Given the description of an element on the screen output the (x, y) to click on. 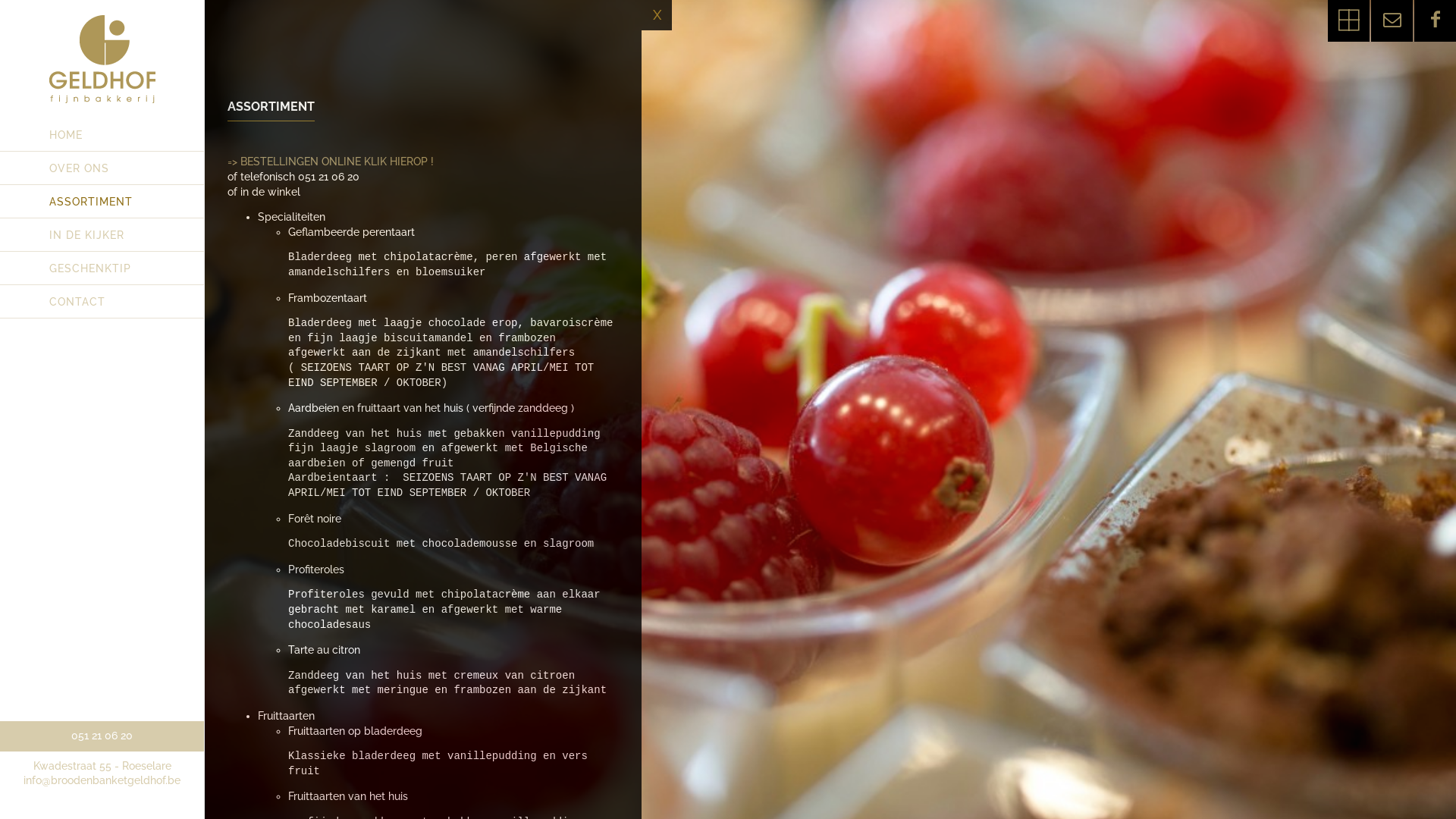
HOME Element type: text (101, 134)
=> BESTELLINGEN ONLINE KLIK HIEROP !  Element type: text (331, 161)
IN DE KIJKER Element type: text (101, 234)
X Element type: text (656, 15)
Bakkerij Gelfhof Element type: text (105, 71)
OVER ONS Element type: text (101, 168)
ASSORTIMENT Element type: text (101, 201)
CONTACT Element type: text (101, 301)
GESCHENKTIP Element type: text (101, 268)
